Given the description of an element on the screen output the (x, y) to click on. 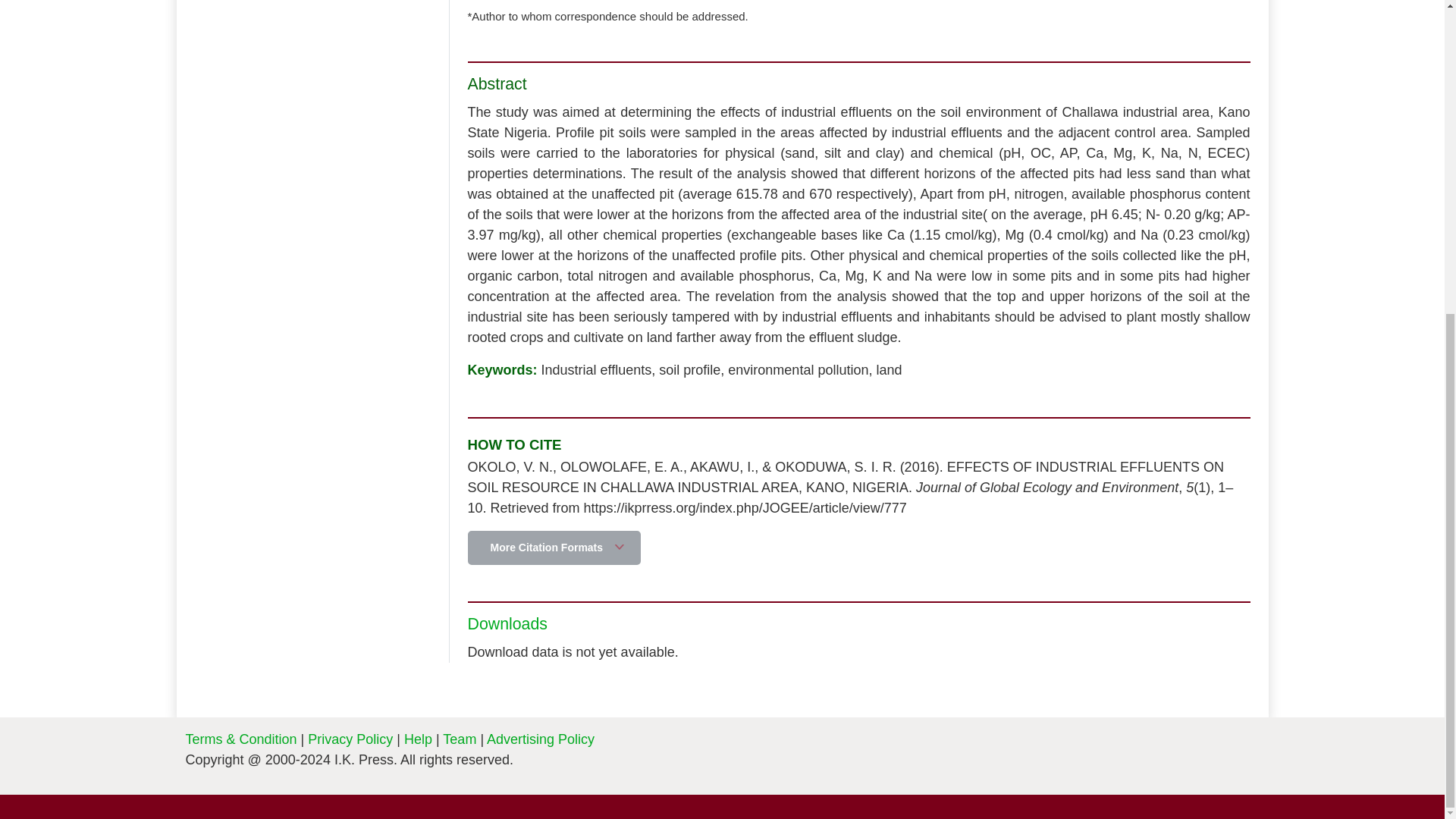
Help (418, 739)
Privacy Policy (351, 739)
More Citation Formats (553, 547)
Advertising Policy (540, 739)
Team (459, 739)
